Given the description of an element on the screen output the (x, y) to click on. 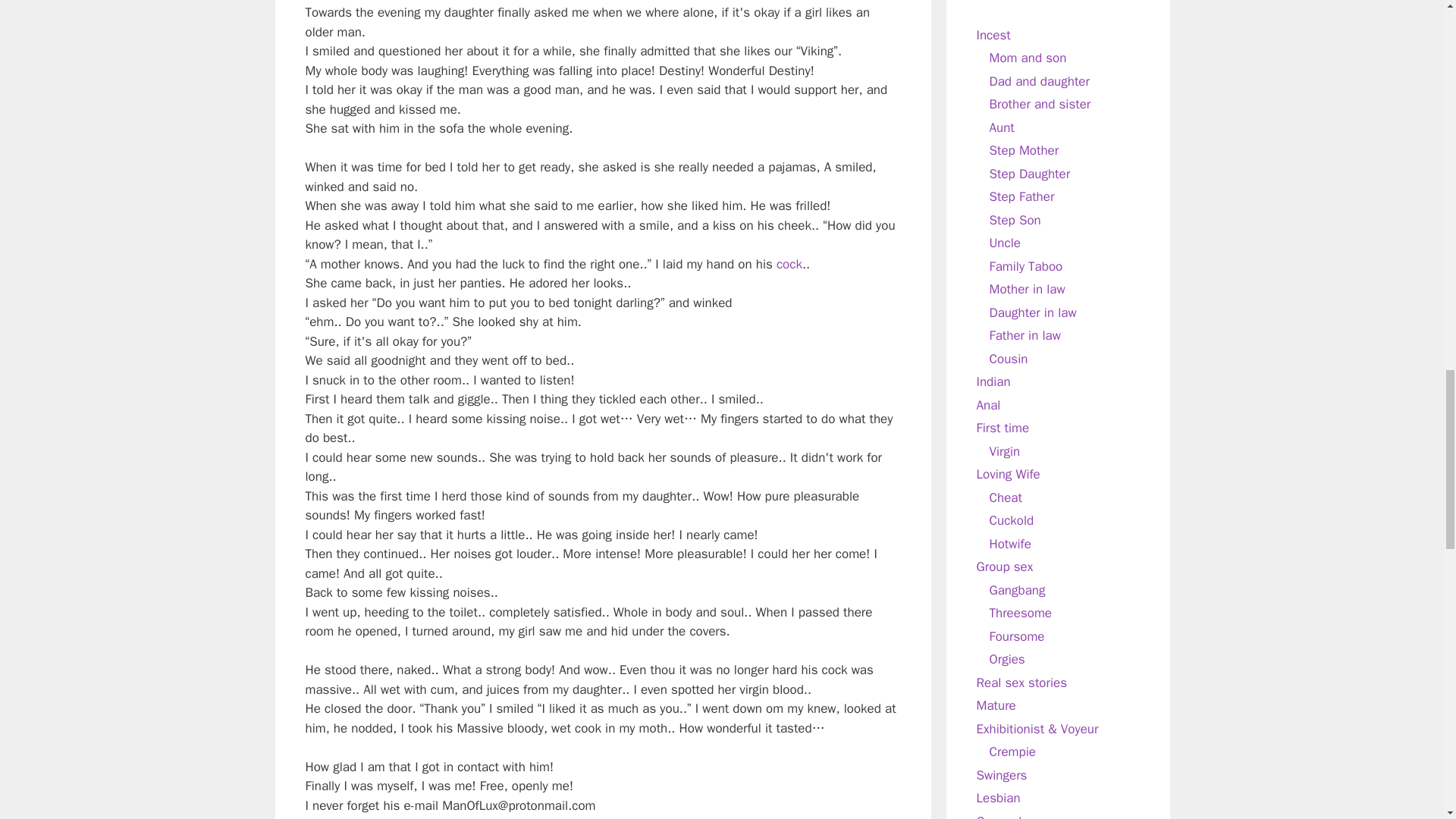
Posts tagged with cock (789, 263)
